Given the description of an element on the screen output the (x, y) to click on. 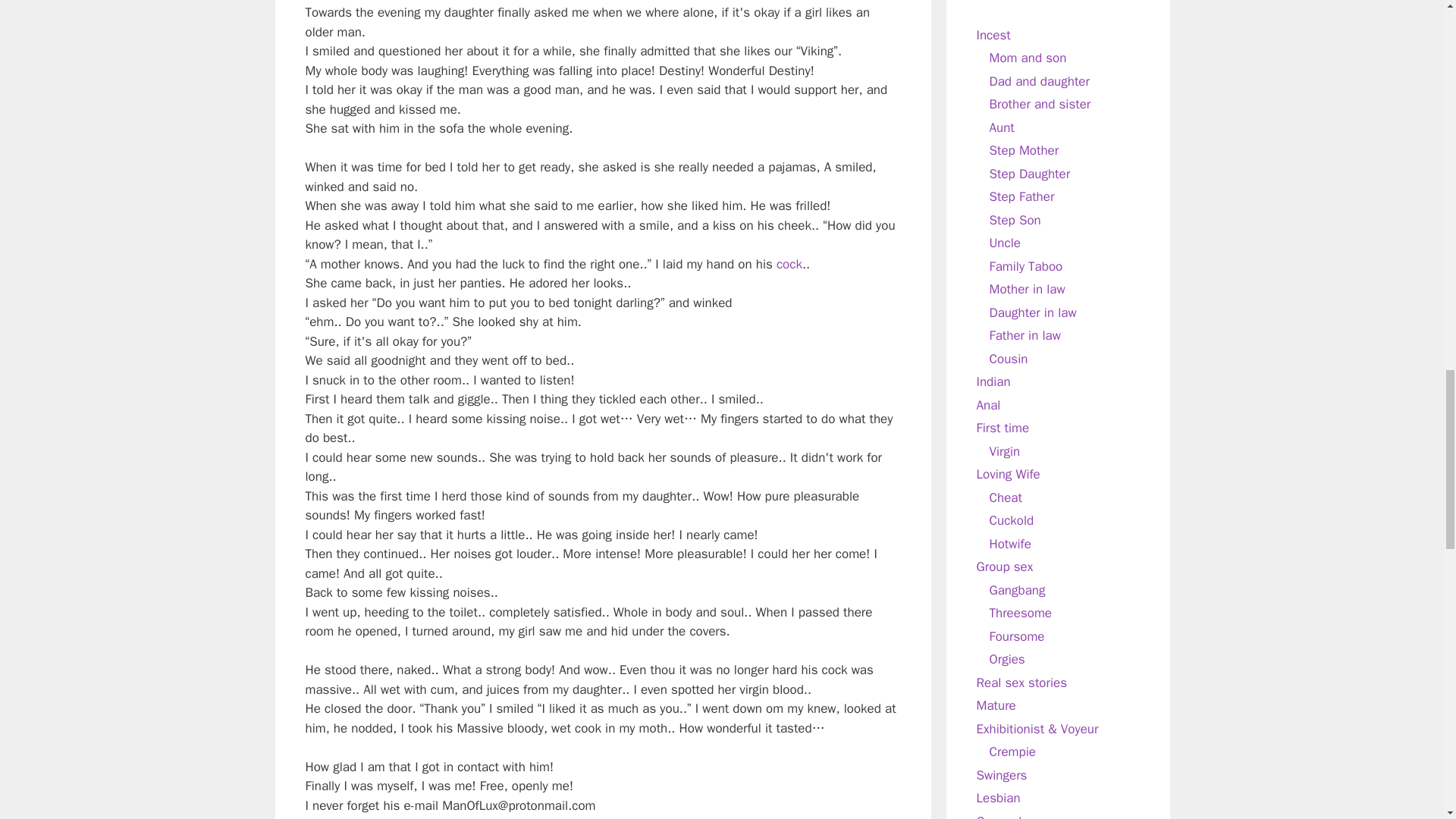
Posts tagged with cock (789, 263)
